Given the description of an element on the screen output the (x, y) to click on. 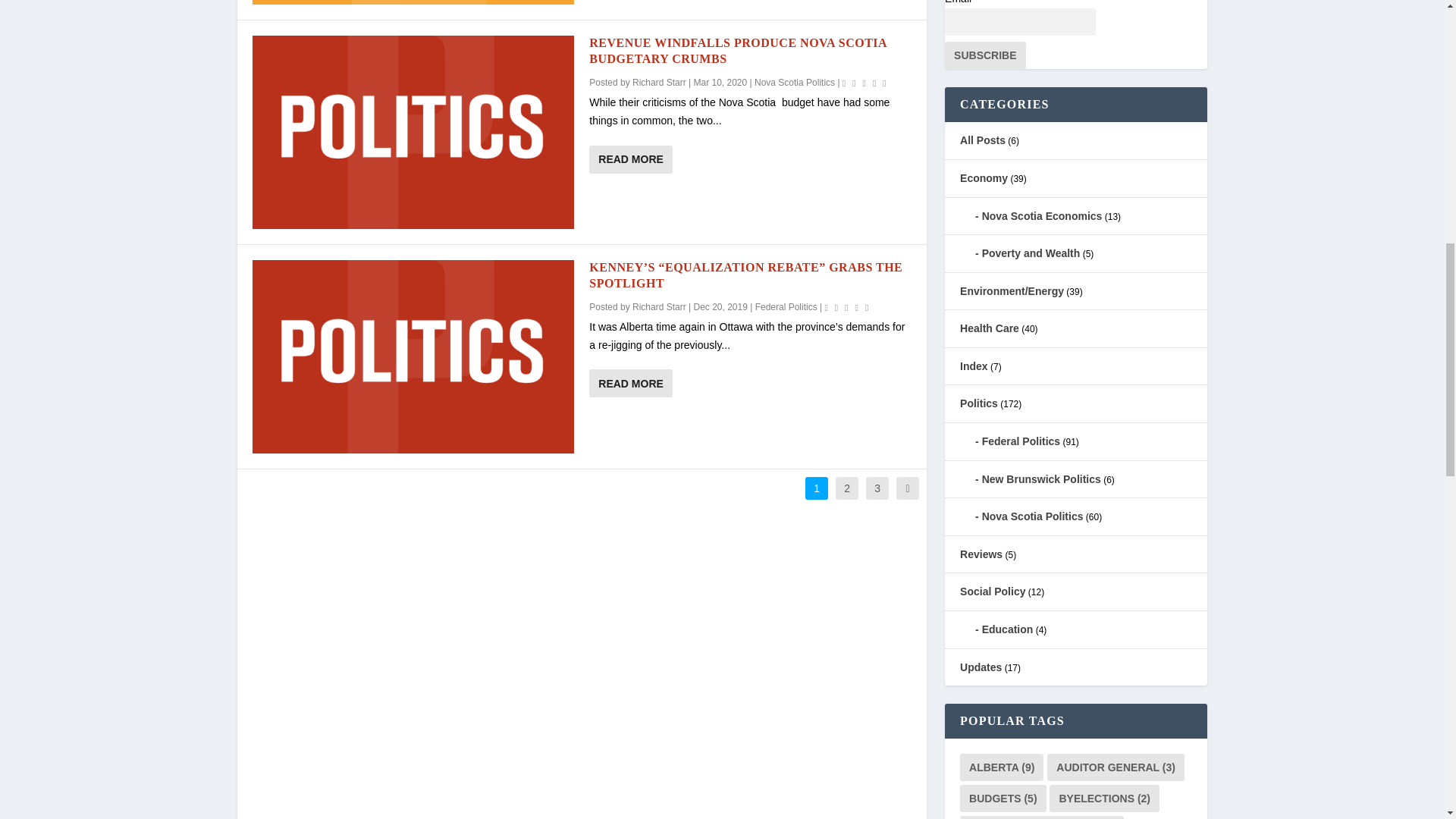
Revenue windfalls produce Nova Scotia budgetary crumbs (412, 132)
Posts by Richard Starr (658, 81)
Subscribe (984, 54)
Rating: 5.00 (866, 82)
